Given the description of an element on the screen output the (x, y) to click on. 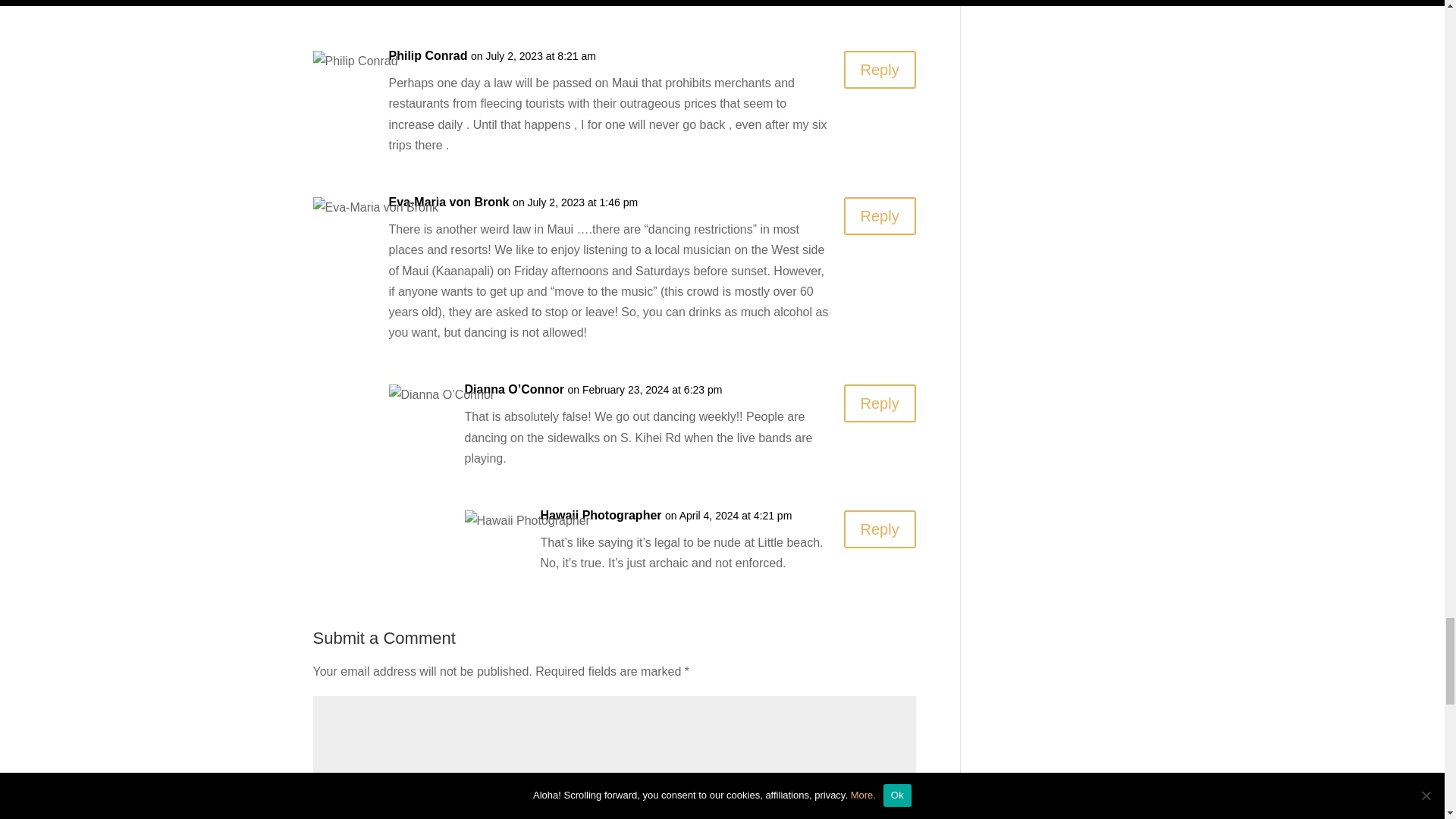
Reply (879, 528)
Reply (879, 216)
Reply (879, 69)
Hawaii Photographer (600, 515)
Reply (879, 403)
